Given the description of an element on the screen output the (x, y) to click on. 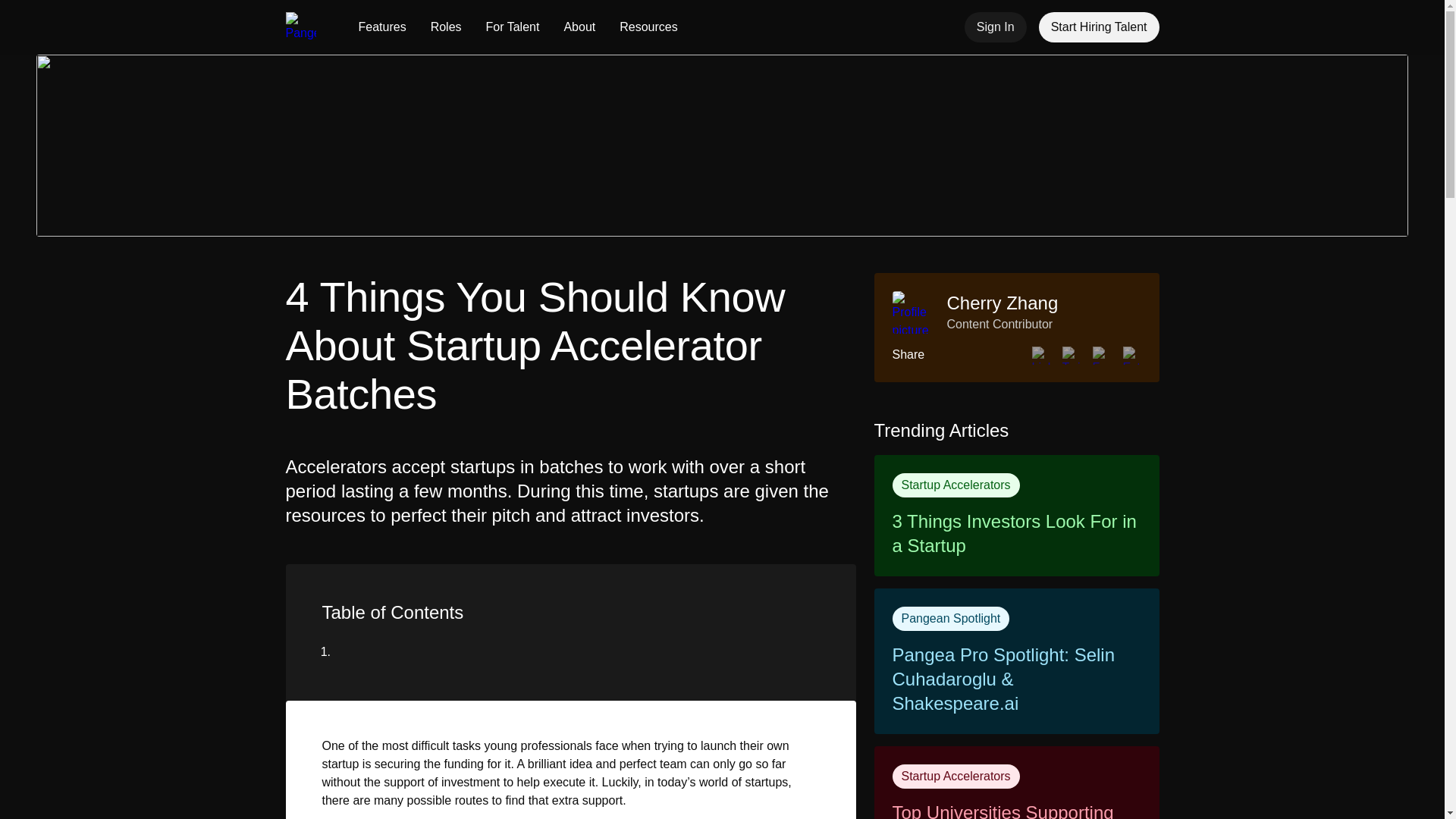
Features (382, 27)
Roles (446, 27)
Sign In (994, 27)
For Talent (513, 27)
About (579, 27)
Resources (647, 27)
Start Hiring Talent (1098, 27)
